Given the description of an element on the screen output the (x, y) to click on. 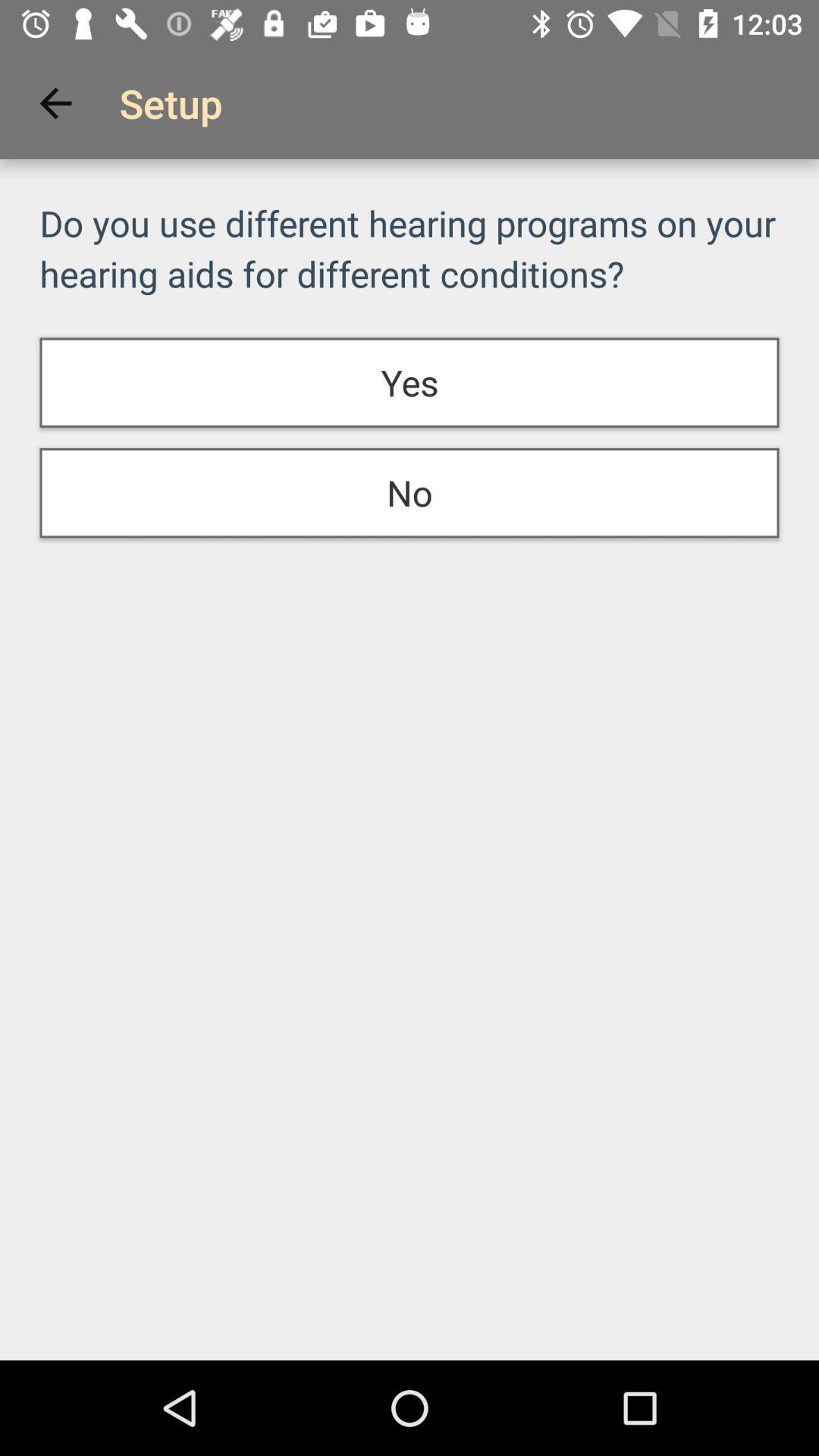
launch no item (409, 493)
